Given the description of an element on the screen output the (x, y) to click on. 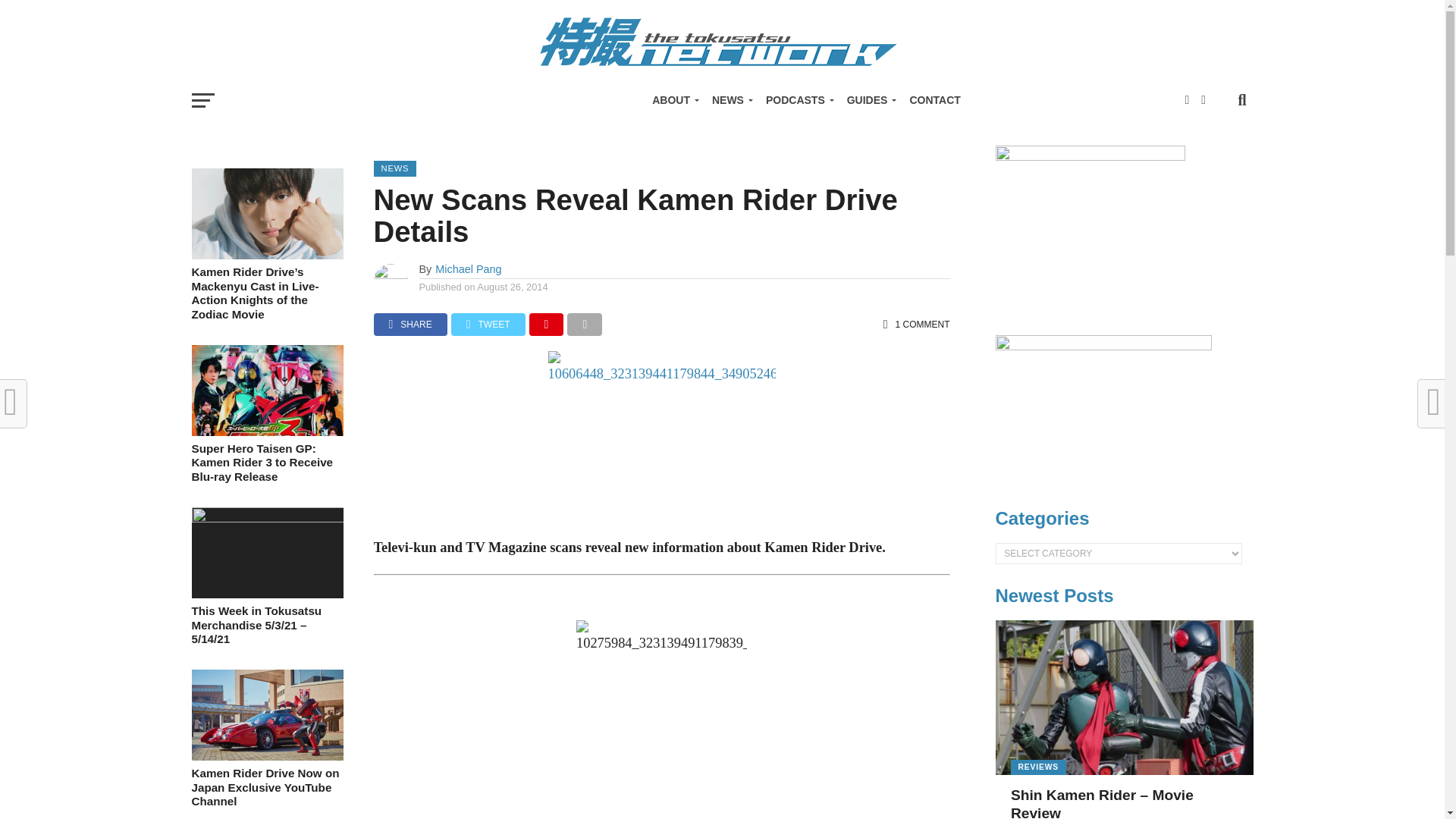
Posts by Michael Pang (467, 268)
Kamen Rider Drive Now on Japan Exclusive YouTube Channel (266, 756)
NEWS (730, 99)
ABOUT (673, 99)
CONTACT (934, 99)
PODCASTS (797, 99)
GUIDES (869, 99)
